Given the description of an element on the screen output the (x, y) to click on. 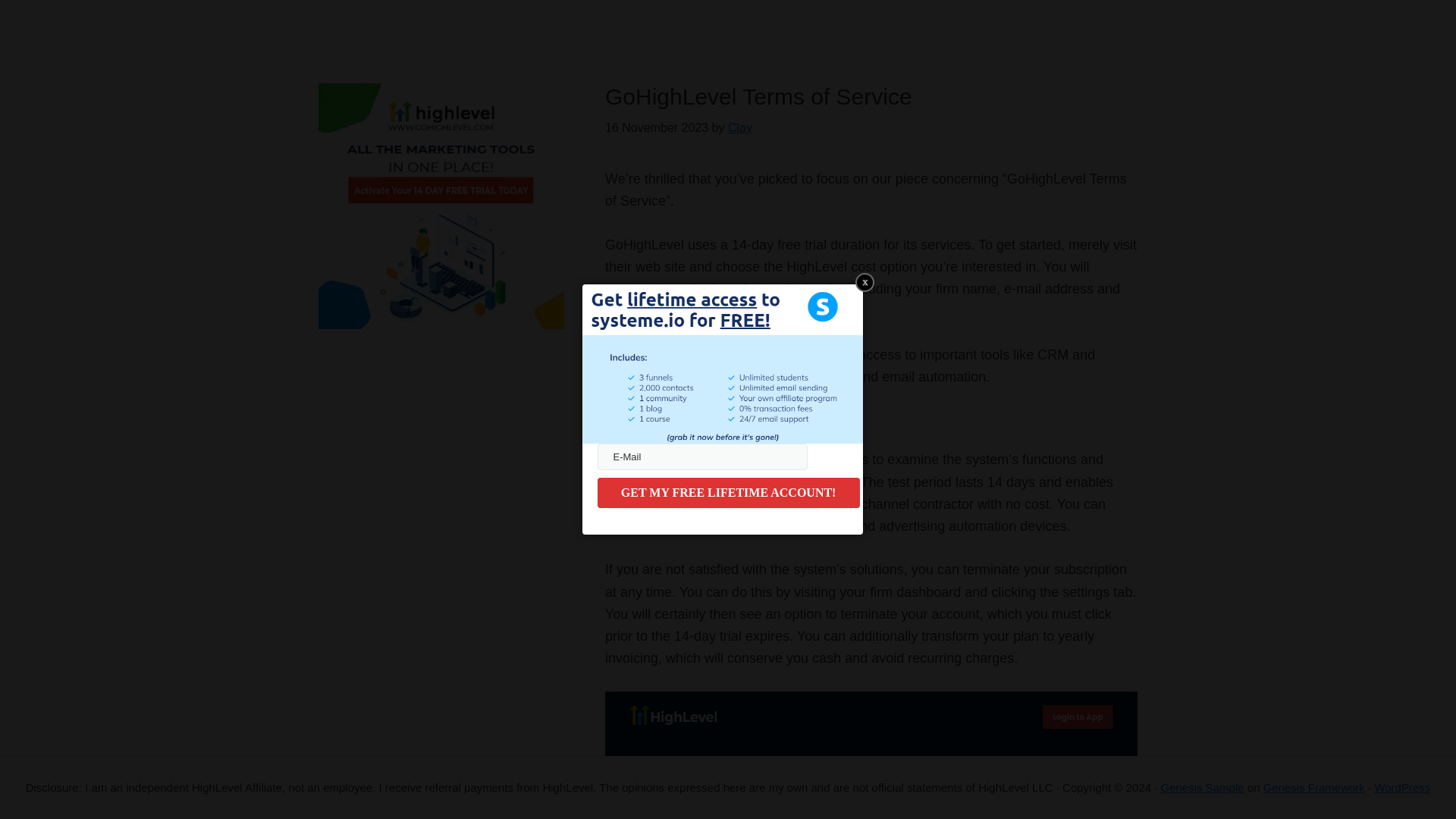
Genesis Sample (1202, 787)
GET MY FREE LIFETIME ACCOUNT! (728, 492)
Genesis Framework (1314, 787)
GET MY FREE LIFETIME ACCOUNT! (728, 492)
Clay (740, 127)
WordPress (1401, 787)
